Given the description of an element on the screen output the (x, y) to click on. 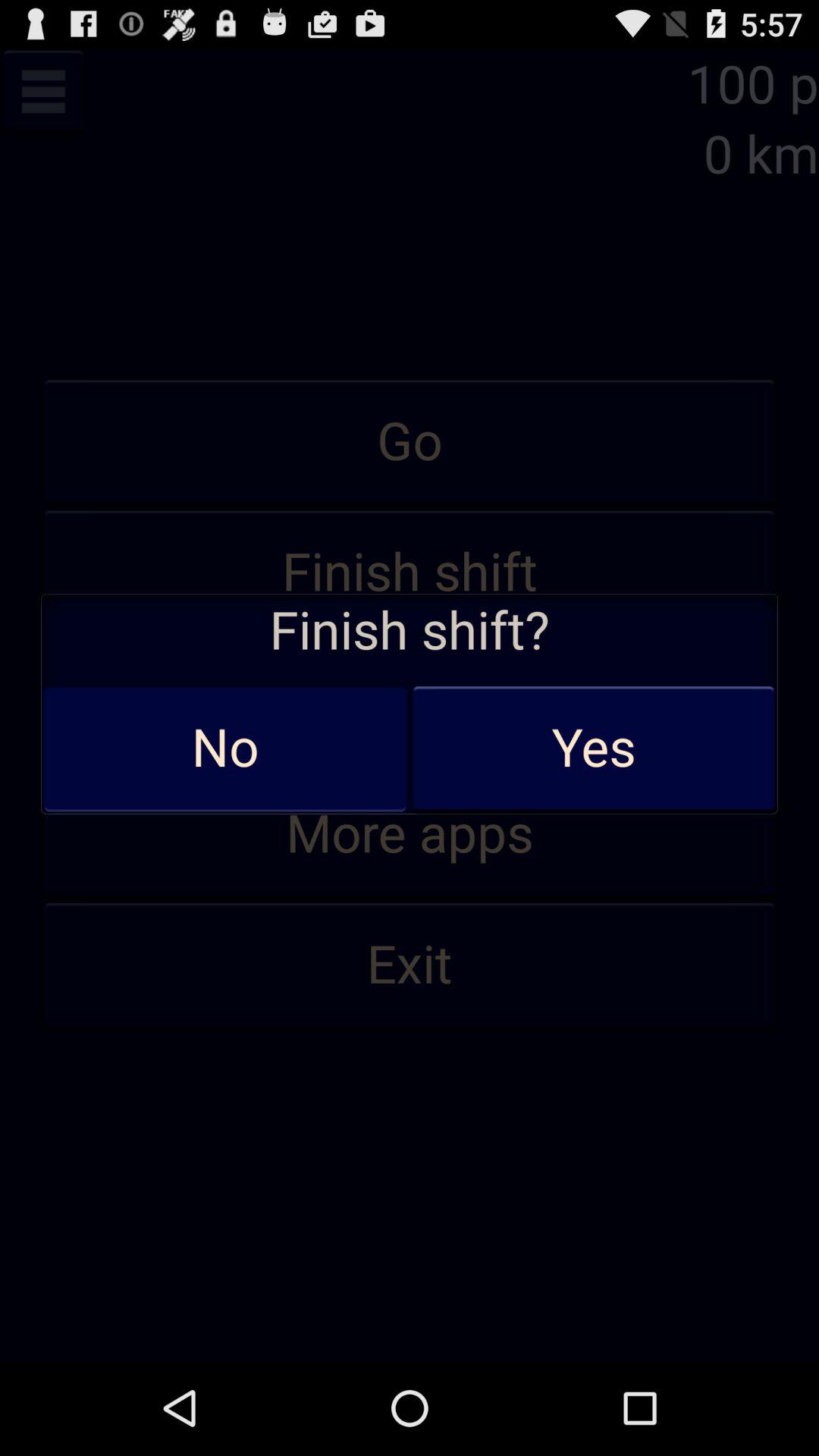
menu (43, 90)
